Given the description of an element on the screen output the (x, y) to click on. 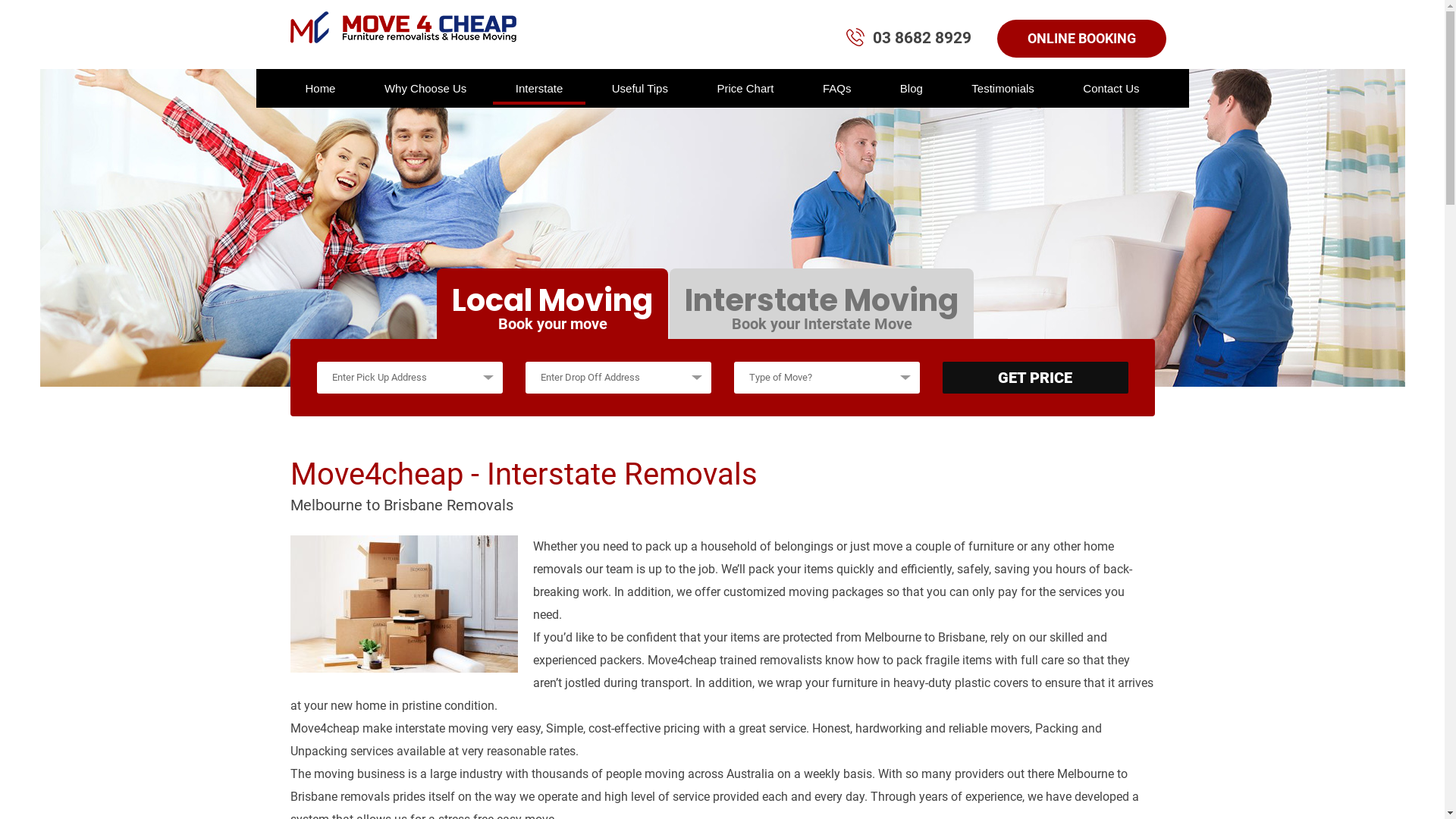
FAQs Element type: text (837, 88)
ONLINE BOOKING Element type: text (1080, 38)
Testimonials Element type: text (1002, 88)
Home Element type: text (319, 88)
03 8682 8929 Element type: text (921, 37)
Melbourne to Brisbane Removals Element type: hover (403, 603)
Blog Element type: text (911, 88)
Move 4 Cheap Element type: hover (402, 25)
Useful Tips Element type: text (639, 88)
Local Moving
Book your move Element type: text (552, 303)
Price Chart Element type: text (744, 88)
Move 4 Cheap Element type: hover (402, 27)
Why Choose Us Element type: text (425, 88)
Get Price Element type: text (1034, 377)
Interstate Moving
Book your Interstate Move Element type: text (821, 303)
Interstate Element type: text (539, 88)
Contact Us Element type: text (1110, 88)
